Given the description of an element on the screen output the (x, y) to click on. 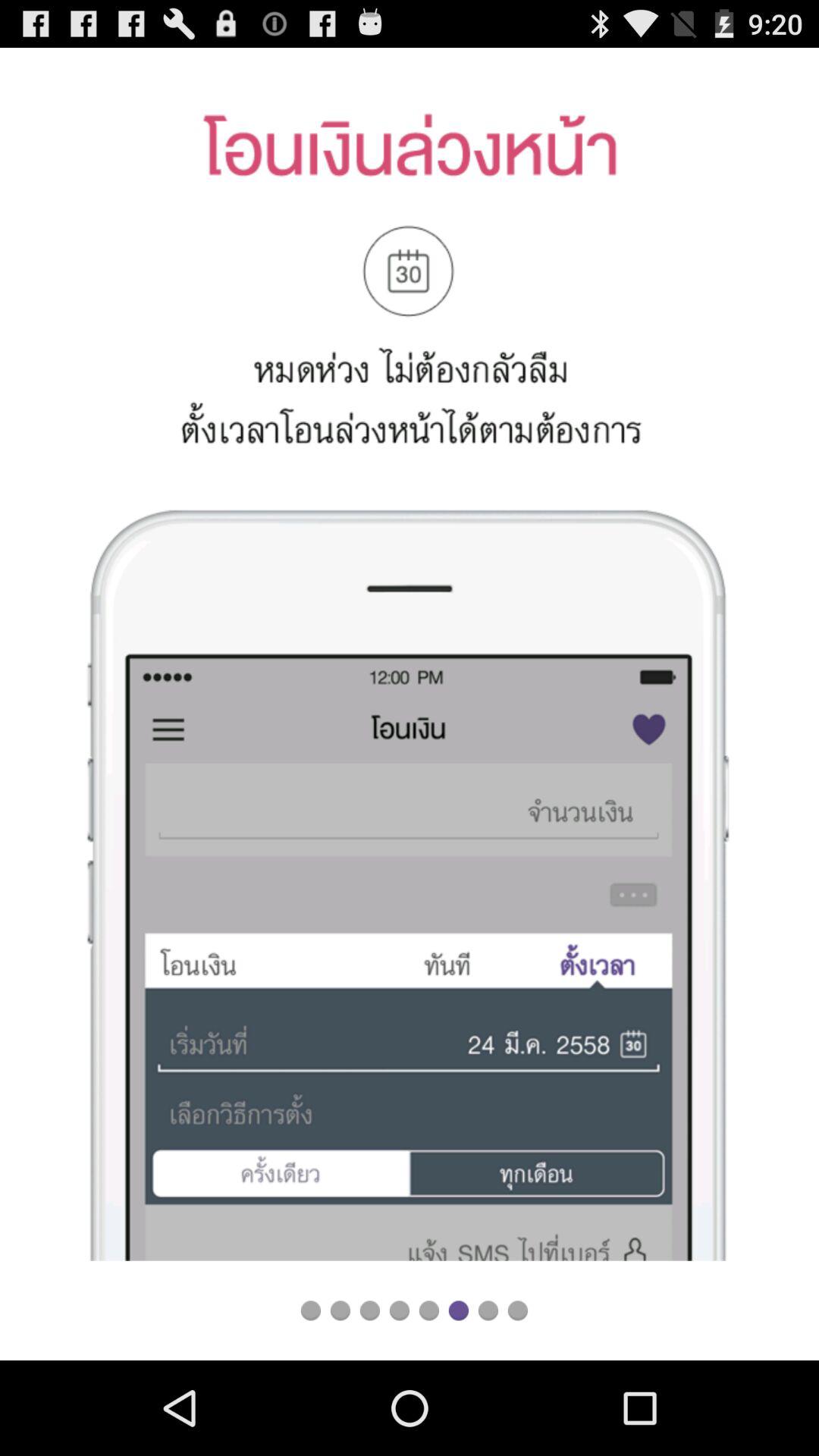
page one (310, 1310)
